Given the description of an element on the screen output the (x, y) to click on. 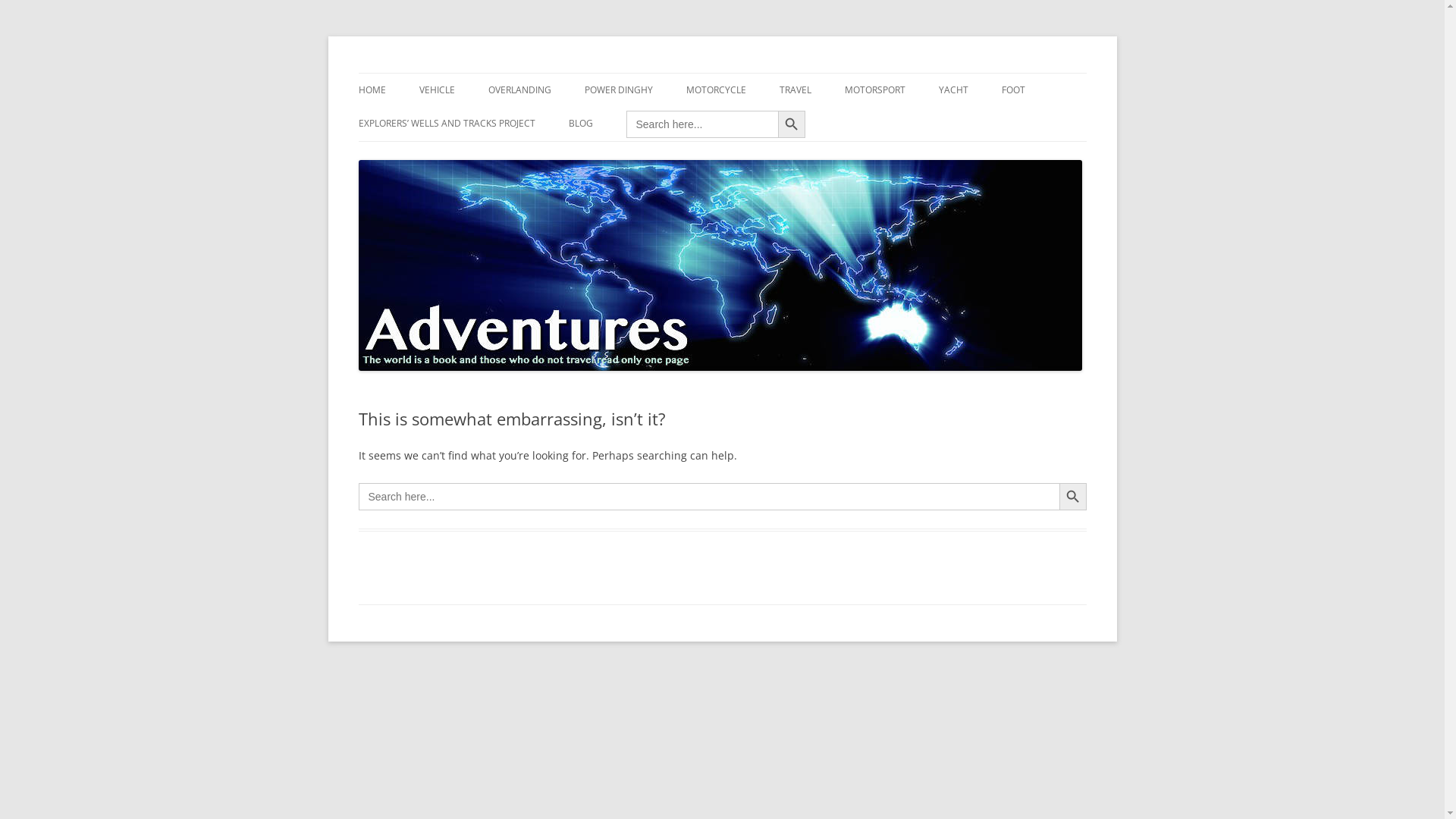
BLOG Element type: text (580, 123)
HOME Element type: text (371, 89)
RIVERS Element type: text (659, 122)
FOOT Element type: text (1012, 89)
Search Button Element type: text (791, 124)
MOTORSPORT Element type: text (874, 89)
YACHT Element type: text (953, 89)
OVERLANDING Element type: text (519, 89)
Adventures Element type: text (413, 72)
MOTORCYCLE Element type: text (715, 89)
VEHICLE Element type: text (436, 89)
Skip to content Element type: text (721, 72)
Search Button Element type: text (1071, 496)
POWER DINGHY Element type: text (617, 89)
TRAVEL Element type: text (795, 89)
